Given the description of an element on the screen output the (x, y) to click on. 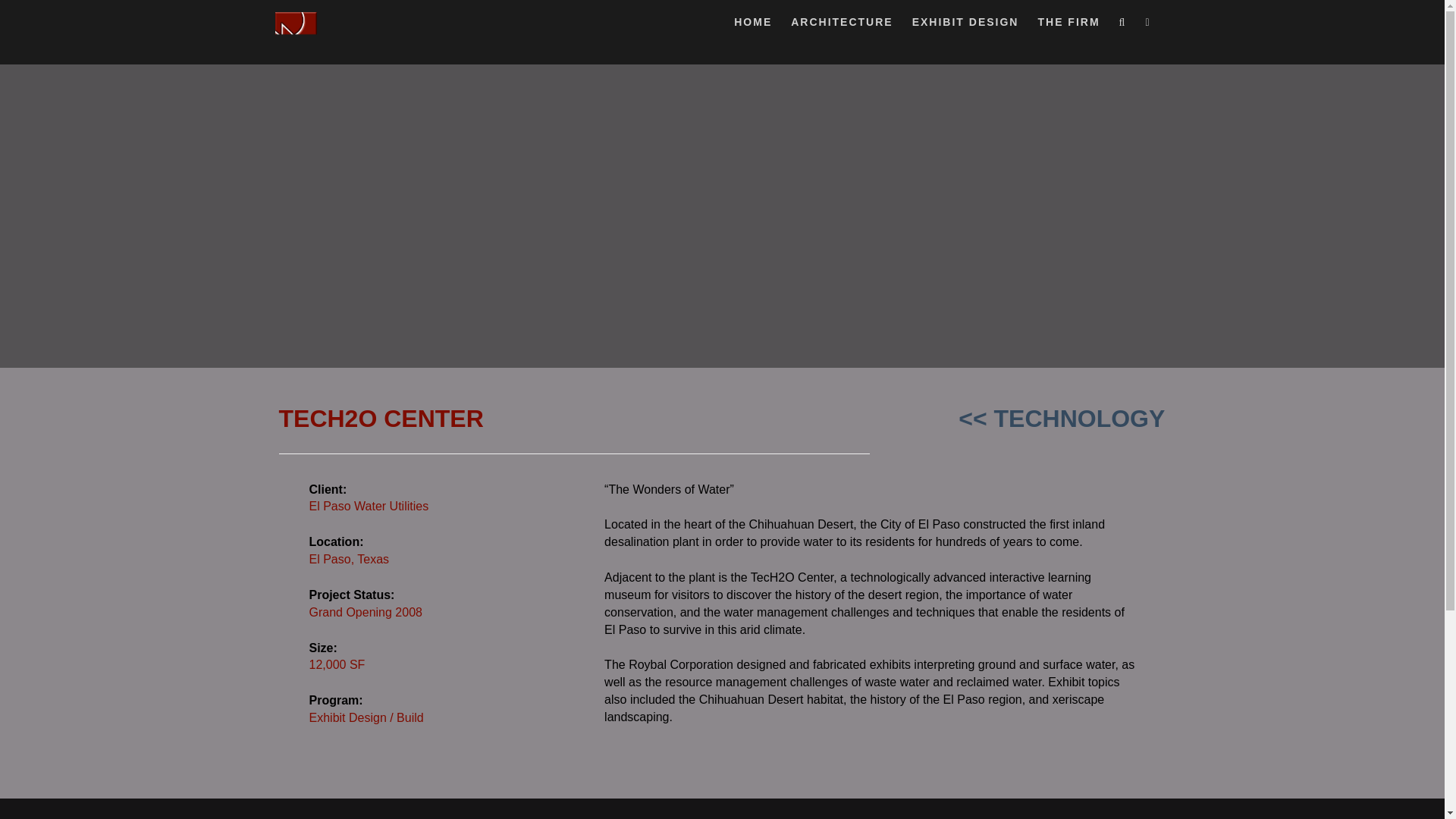
EXHIBIT DESIGN (965, 25)
THE FIRM (1067, 25)
ARCHITECTURE (841, 25)
HOME (752, 25)
Search (26, 16)
